Given the description of an element on the screen output the (x, y) to click on. 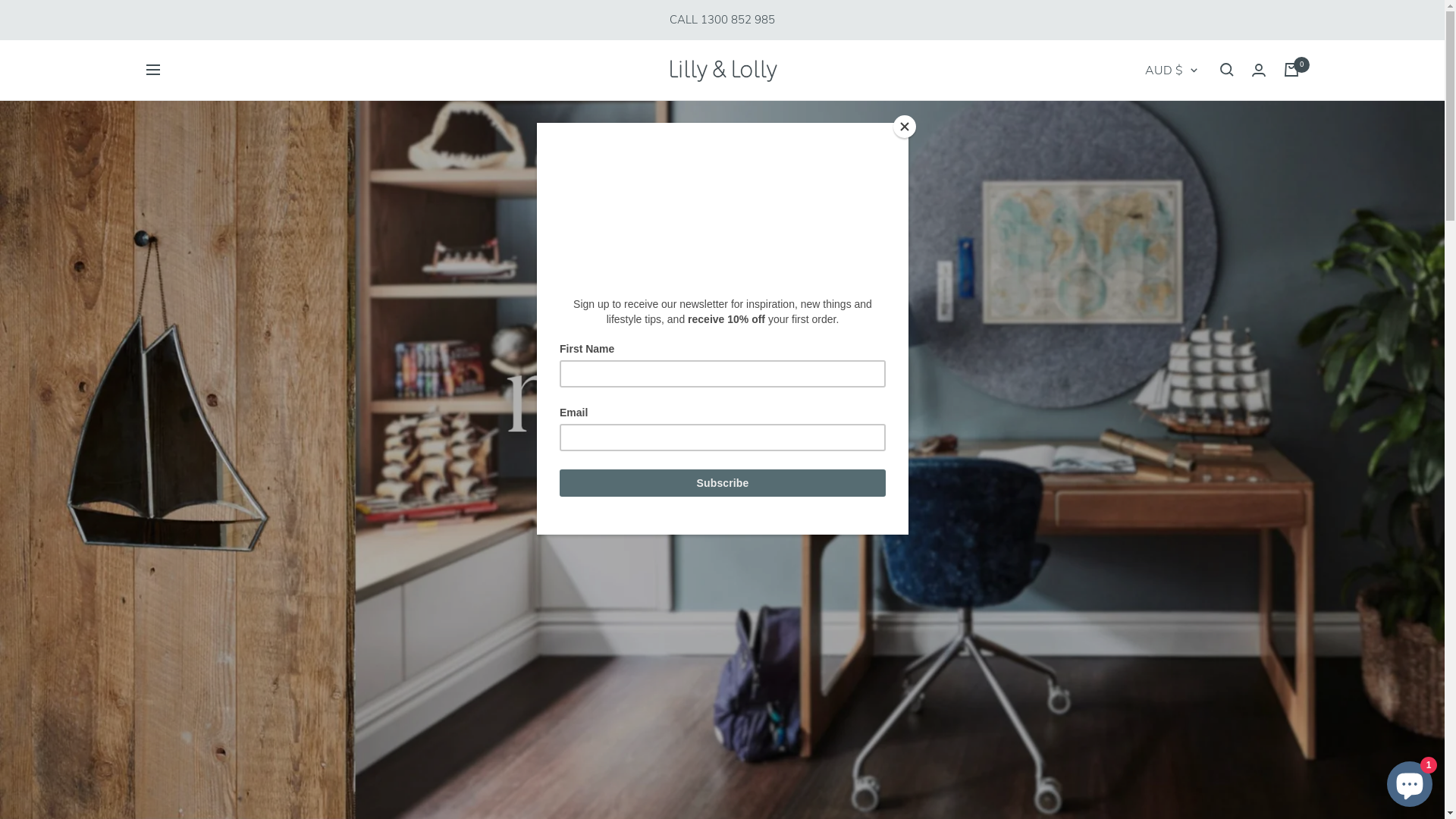
BIF Element type: text (1154, 456)
BAM Element type: text (1154, 346)
BBD Element type: text (176, 205)
CDF Element type: text (176, 418)
GNF Element type: text (176, 779)
BSD Element type: text (176, 333)
DOP Element type: text (176, 588)
AUD $ Element type: text (1171, 70)
AFN Element type: text (176, 35)
BSD Element type: text (1154, 539)
AWG Element type: text (176, 142)
CNY Element type: text (1154, 705)
CHF Element type: text (176, 439)
0 Element type: text (1290, 69)
AZN Element type: text (1154, 318)
BIF Element type: text (176, 269)
BOB Element type: text (1154, 511)
GBP Element type: text (176, 736)
ANG Element type: text (1154, 235)
BBD Element type: text (1154, 373)
AUD Element type: text (1154, 262)
BZD Element type: text (176, 375)
AFN Element type: text (1154, 152)
DJF Element type: text (176, 545)
CALL 1300 852 985 Element type: text (722, 19)
EUR Element type: text (176, 672)
CNY Element type: text (176, 460)
BDT Element type: text (176, 227)
BWP Element type: text (1154, 566)
AMD Element type: text (1154, 207)
CRC Element type: text (176, 481)
AMD Element type: text (176, 78)
DKK Element type: text (176, 566)
CZK Element type: text (1154, 788)
BDT Element type: text (1154, 401)
FJD Element type: text (176, 694)
AED Element type: text (176, 14)
GTQ Element type: text (176, 800)
BND Element type: text (176, 290)
AED Element type: text (1154, 124)
BWP Element type: text (176, 354)
ANG Element type: text (176, 99)
CHF Element type: text (1154, 677)
BAM Element type: text (176, 184)
BOB Element type: text (176, 312)
CDF Element type: text (1154, 650)
CAD Element type: text (176, 396)
ALL Element type: text (1154, 180)
AUD Element type: text (176, 120)
Lilly and Lolly Element type: text (721, 70)
EGP Element type: text (176, 630)
ALL Element type: text (176, 57)
BGN Element type: text (176, 248)
CVE Element type: text (176, 503)
AZN Element type: text (176, 163)
CVE Element type: text (1154, 760)
BZD Element type: text (1154, 594)
BGN Element type: text (1154, 428)
DZD Element type: text (176, 609)
CAD Element type: text (1154, 622)
FKP Element type: text (176, 715)
ETB Element type: text (176, 651)
Shopify online store chat Element type: hover (1409, 780)
AWG Element type: text (1154, 290)
GMD Element type: text (176, 757)
CZK Element type: text (176, 524)
BND Element type: text (1154, 484)
Navigation Element type: text (152, 69)
CRC Element type: text (1154, 732)
